Given the description of an element on the screen output the (x, y) to click on. 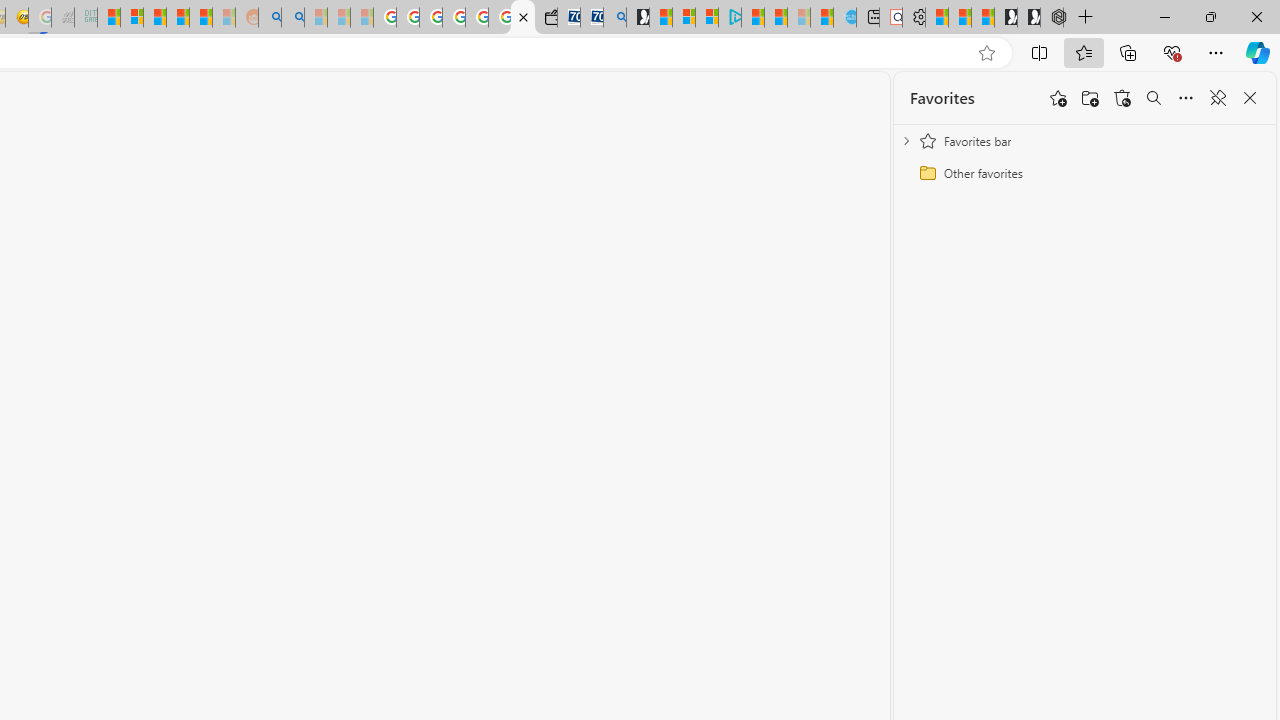
Add this page to favorites (1058, 98)
